Given the description of an element on the screen output the (x, y) to click on. 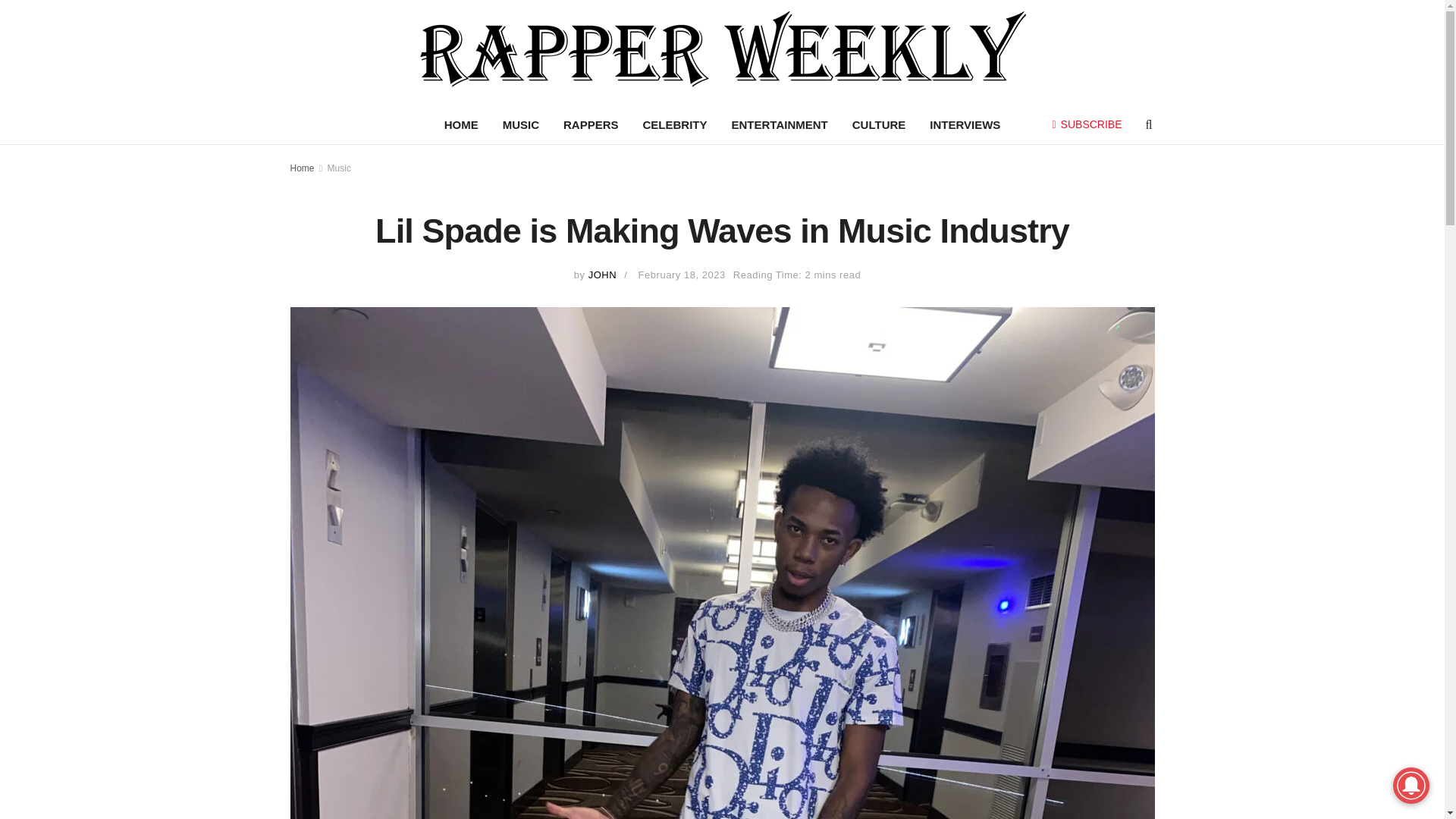
SUBSCRIBE (1087, 123)
February 18, 2023 (682, 274)
MUSIC (520, 125)
HOME (461, 125)
Music (338, 167)
CELEBRITY (674, 125)
JOHN (601, 274)
ENTERTAINMENT (779, 125)
CULTURE (879, 125)
Home (301, 167)
RAPPERS (590, 125)
INTERVIEWS (964, 125)
